Given the description of an element on the screen output the (x, y) to click on. 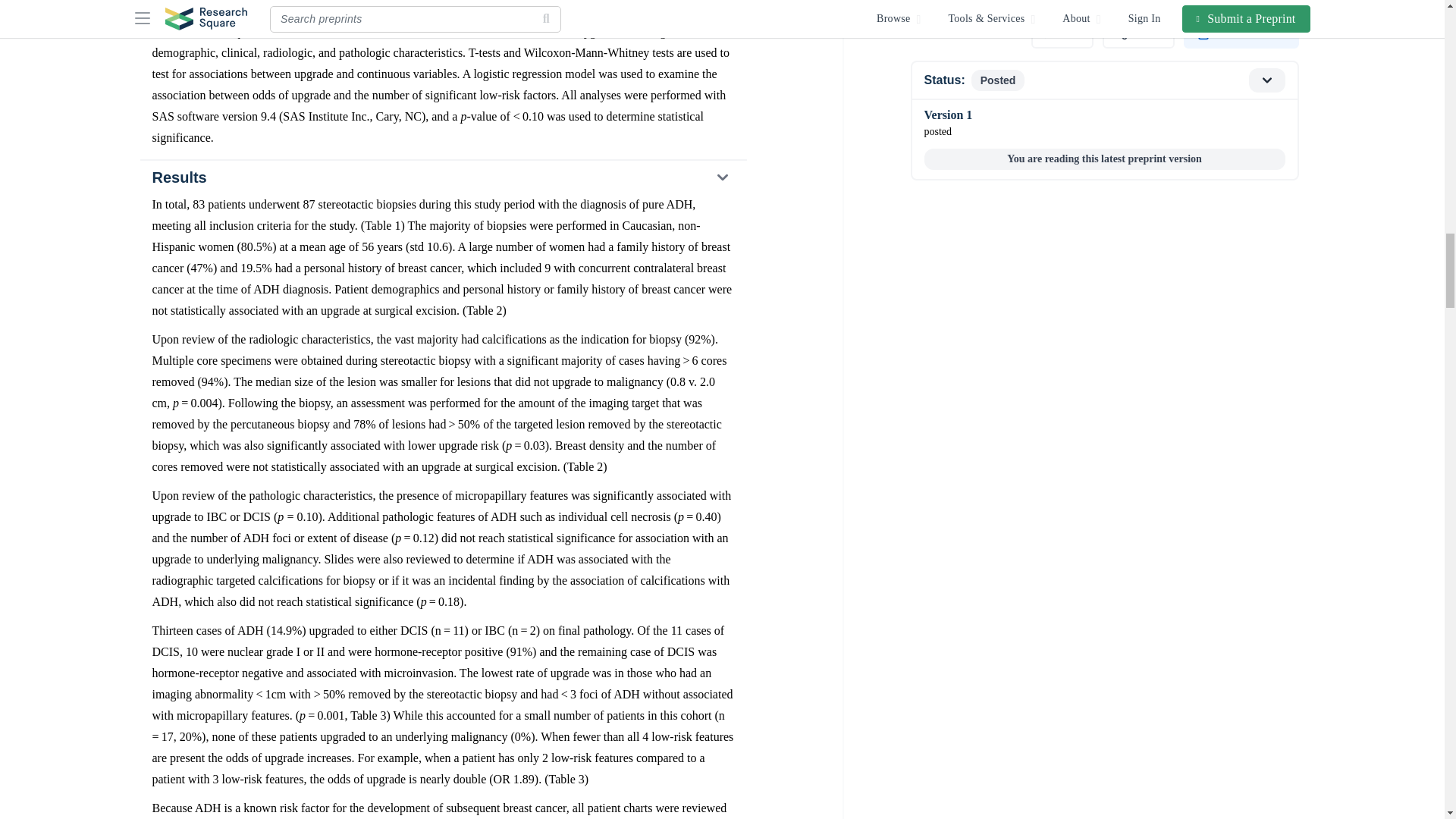
Results (442, 177)
